Given the description of an element on the screen output the (x, y) to click on. 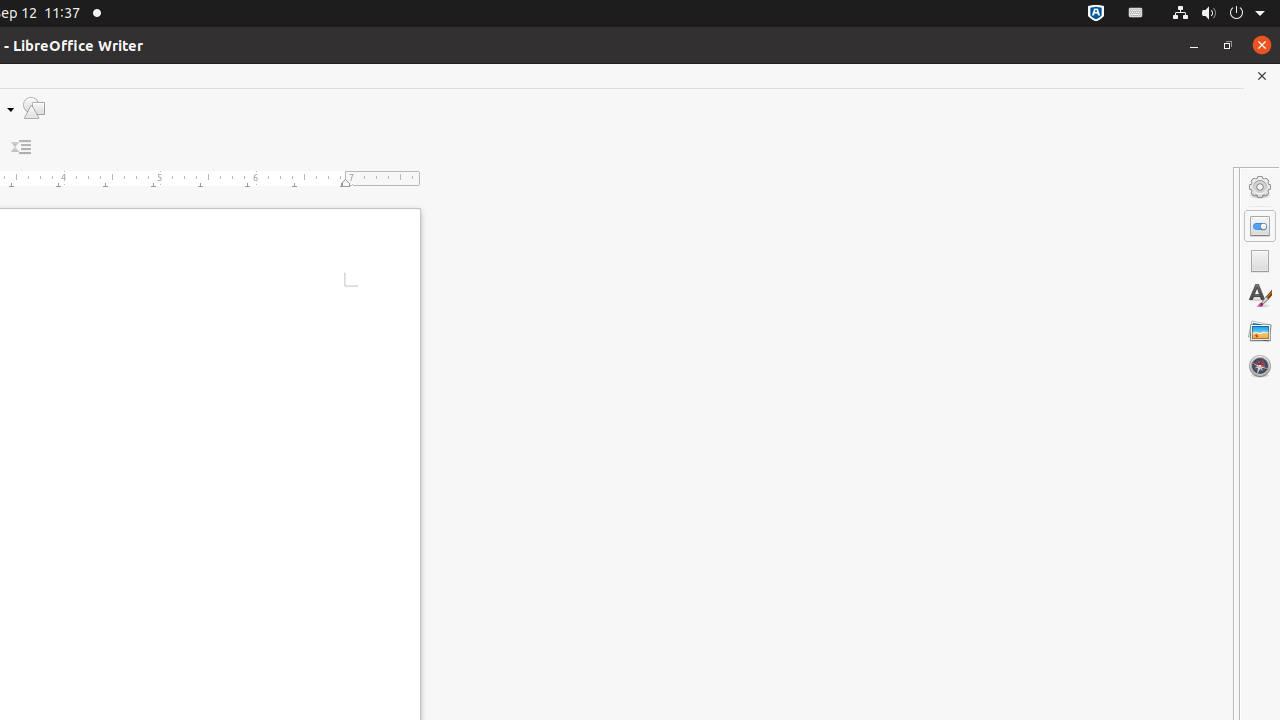
org.kde.StatusNotifierItem-14077-1 Element type: menu (1136, 13)
Decrease Element type: push-button (21, 147)
Properties Element type: radio-button (1260, 226)
:1.72/StatusNotifierItem Element type: menu (1096, 13)
Draw Functions Element type: push-button (33, 108)
